Given the description of an element on the screen output the (x, y) to click on. 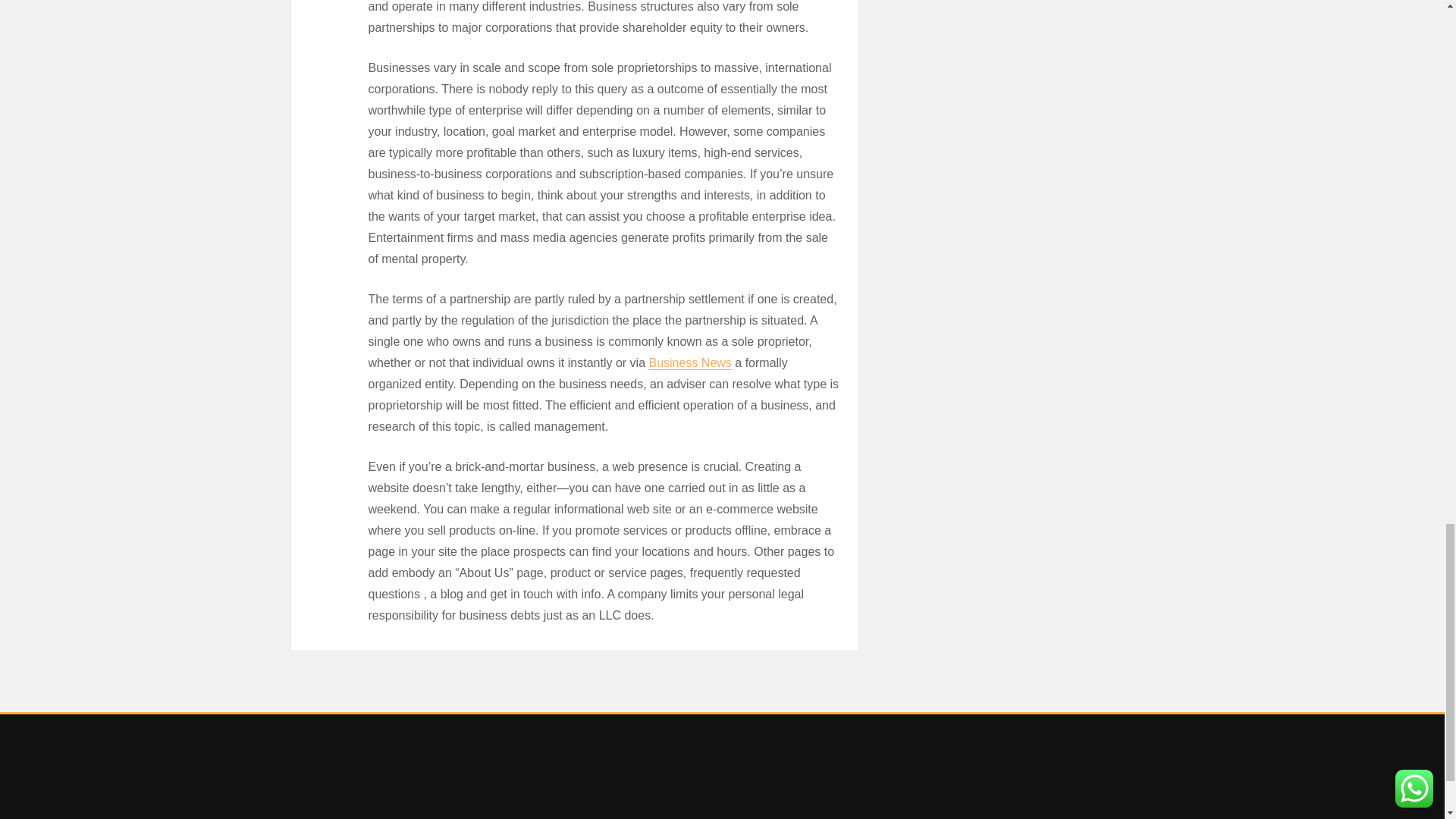
Business News (688, 362)
